Given the description of an element on the screen output the (x, y) to click on. 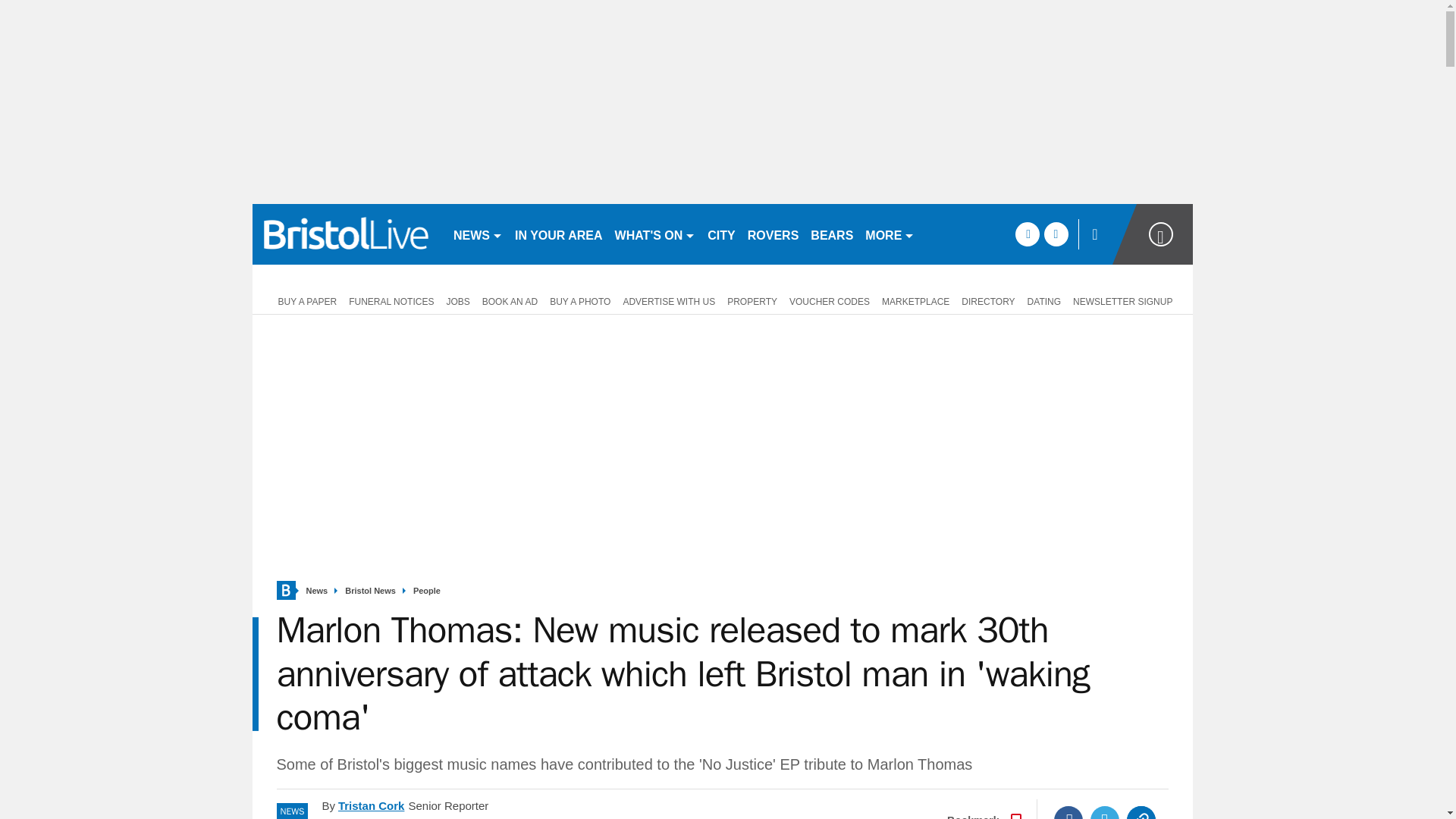
ROVERS (773, 233)
facebook (1026, 233)
NEWS (477, 233)
bristolpost (345, 233)
WHAT'S ON (654, 233)
Facebook (1068, 812)
Twitter (1104, 812)
twitter (1055, 233)
MORE (889, 233)
IN YOUR AREA (558, 233)
BEARS (832, 233)
